Given the description of an element on the screen output the (x, y) to click on. 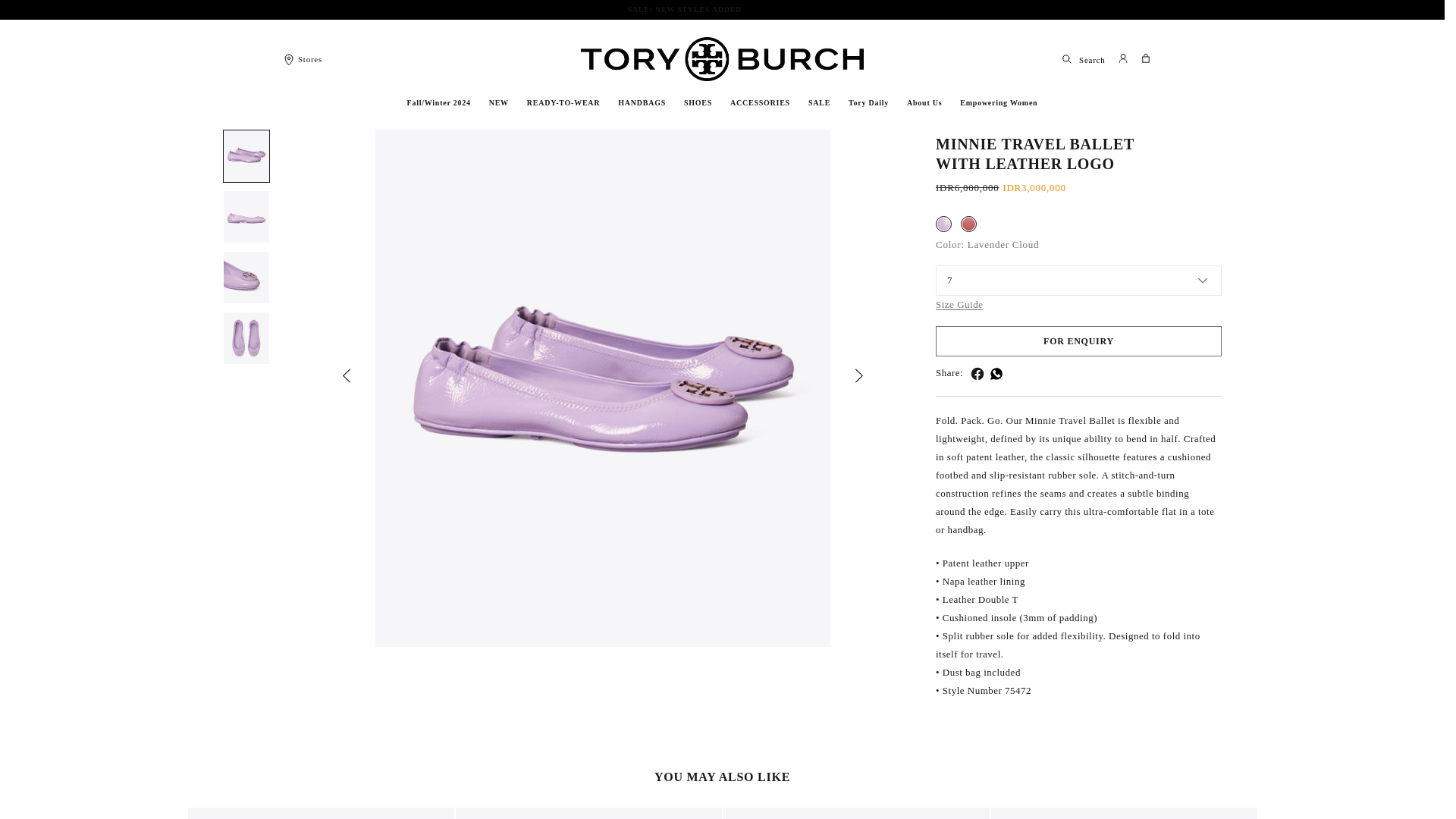
SHOES (697, 102)
NEW (499, 102)
Search (1083, 59)
READY-TO-WEAR (563, 102)
HANDBAGS (641, 102)
FOR ENQUIRY (1078, 340)
About Us (924, 102)
DISCOVER MORE (780, 8)
Stores (301, 57)
Tory Daily (869, 102)
ACCESSORIES (759, 102)
SALE (819, 102)
Empowering Women (998, 102)
7 (1078, 280)
